Given the description of an element on the screen output the (x, y) to click on. 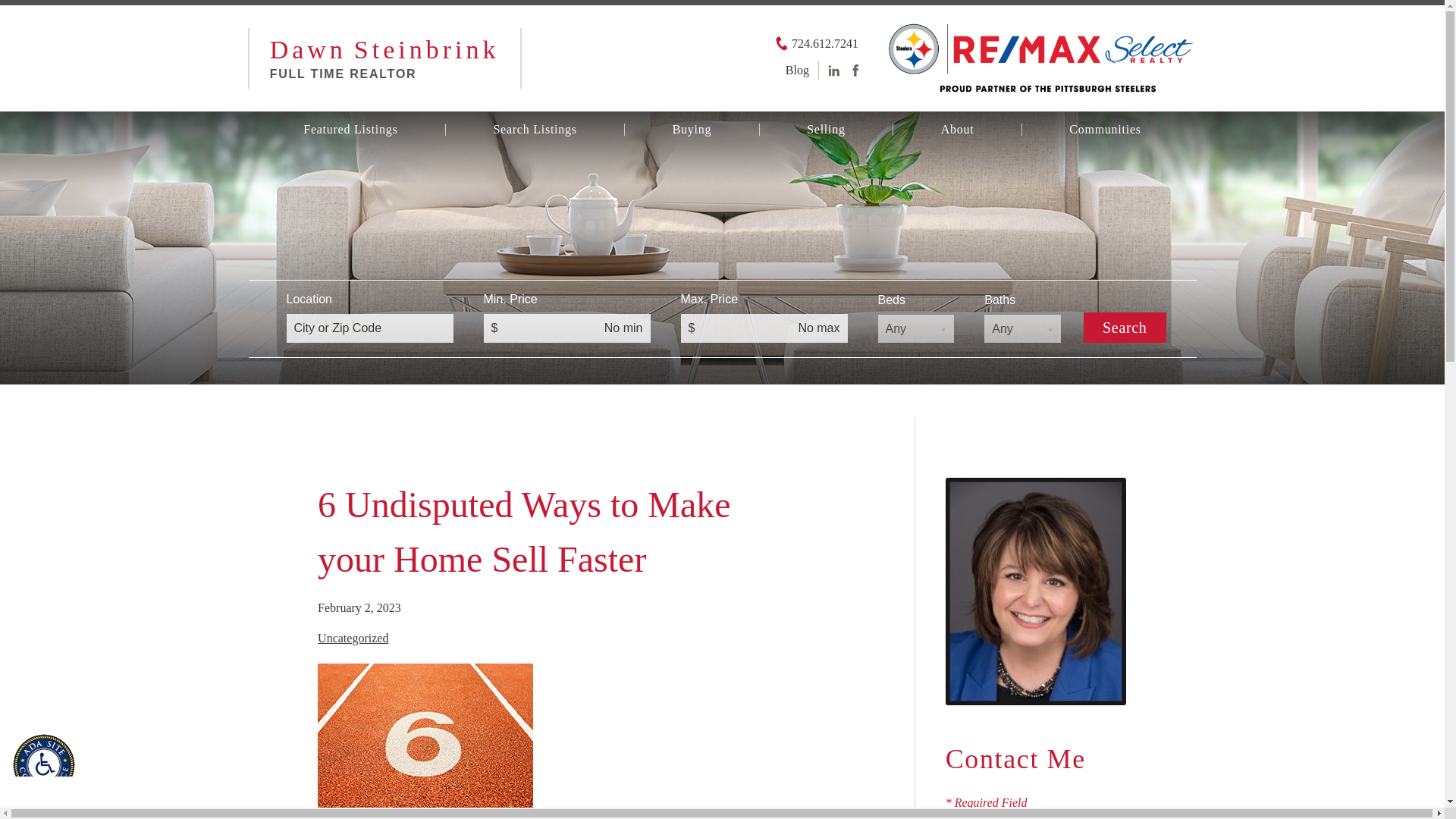
6 Undisputed Ways to Make your Home Sell Faster (523, 531)
Accessibility Menu (43, 765)
Accessibility Menu (47, 767)
